Given the description of an element on the screen output the (x, y) to click on. 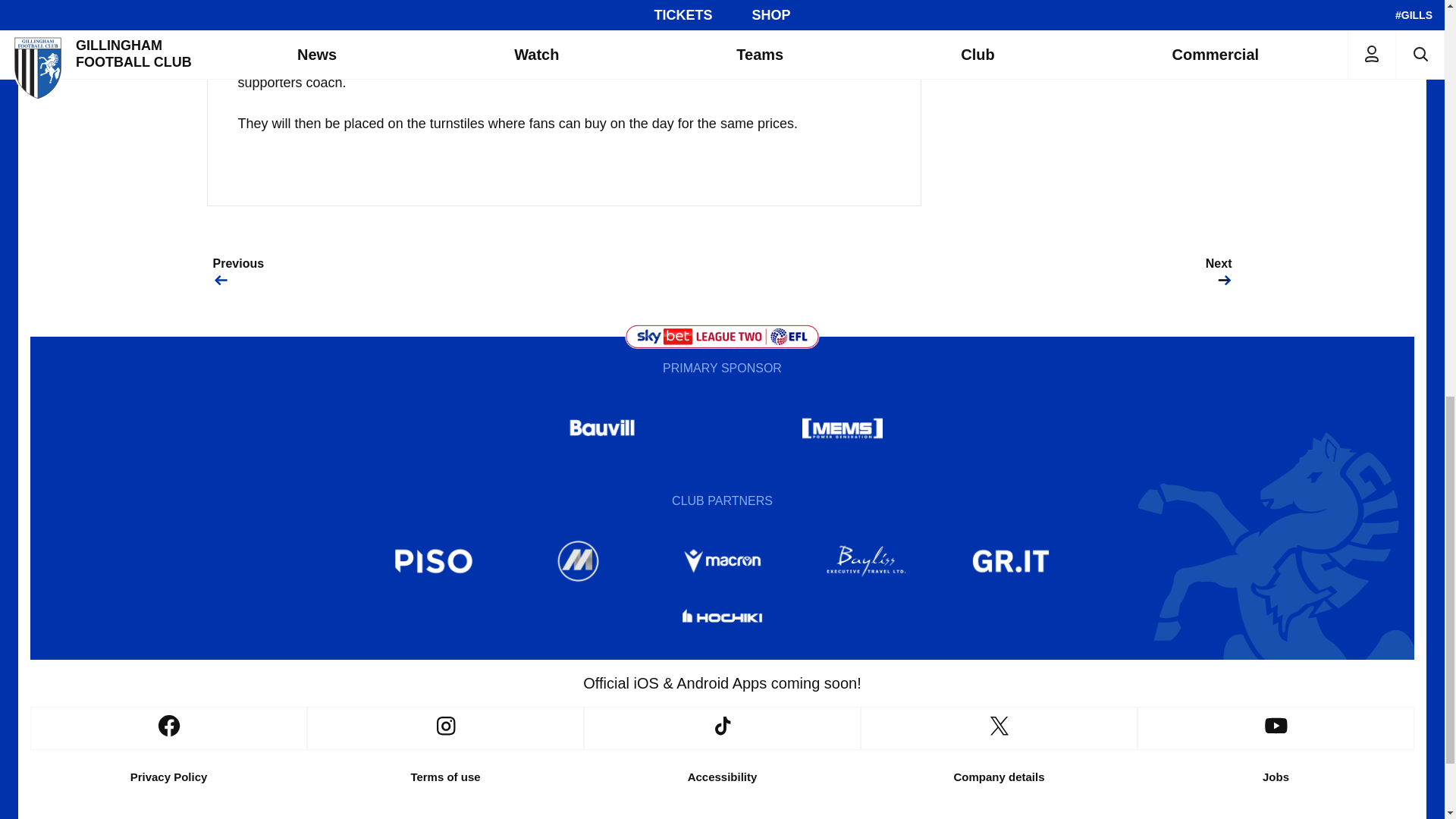
MEMS Power Generation (841, 428)
Macron (720, 560)
Bauvill (601, 428)
Hochiki (720, 618)
Bayliss (866, 560)
GRIT (1010, 560)
PISO (433, 560)
Magnus Search Recruitment (577, 560)
